Given the description of an element on the screen output the (x, y) to click on. 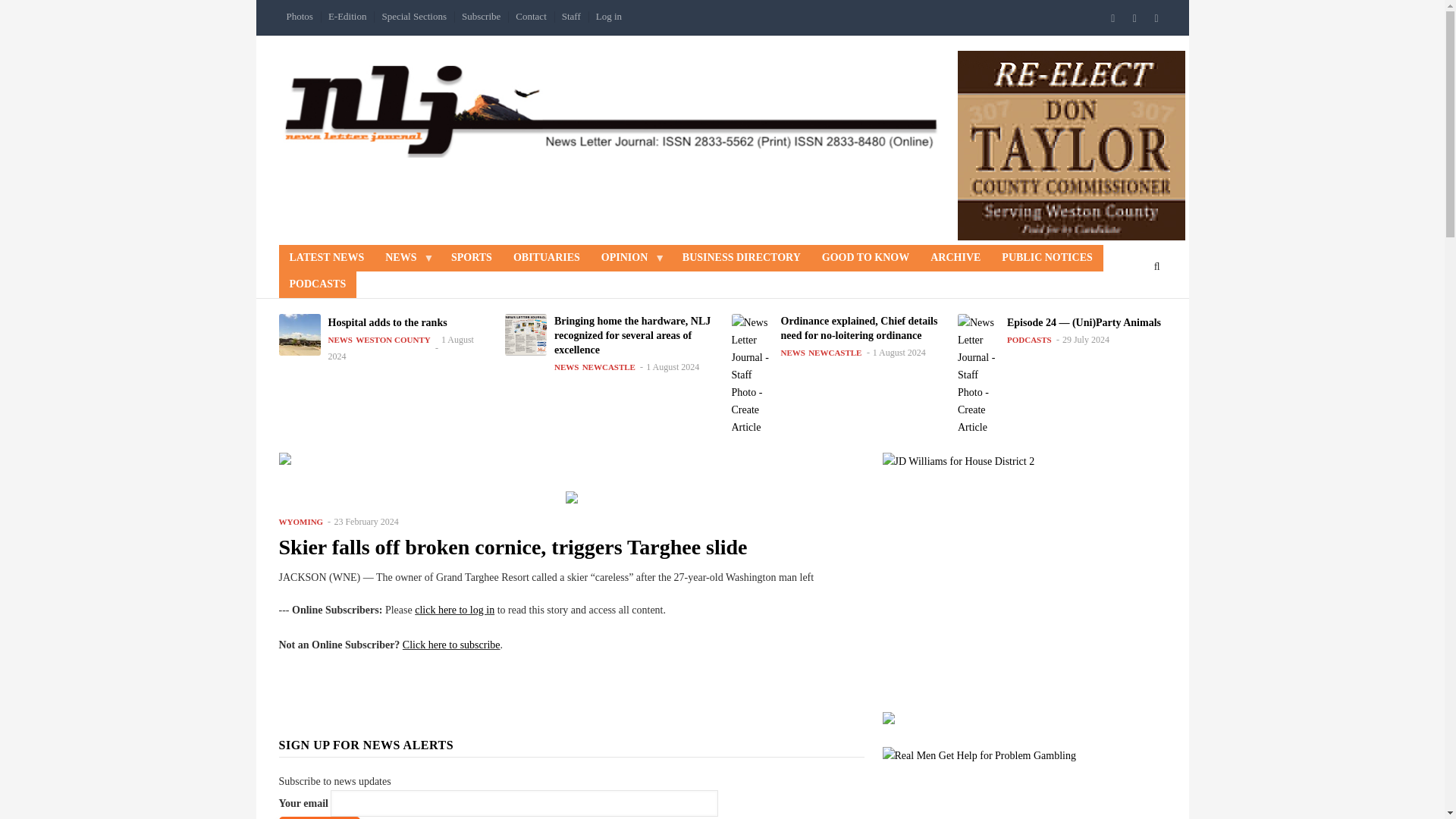
ARCHIVE (955, 257)
E-Edition (347, 16)
Subscribe (481, 16)
BUSINESS DIRECTORY (740, 257)
Public Notices (1046, 257)
Special Sections (414, 16)
Podcasts (317, 284)
Re-Elect Don Taylor (1071, 145)
PODCASTS (317, 284)
PUBLIC NOTICES (1046, 257)
